Given the description of an element on the screen output the (x, y) to click on. 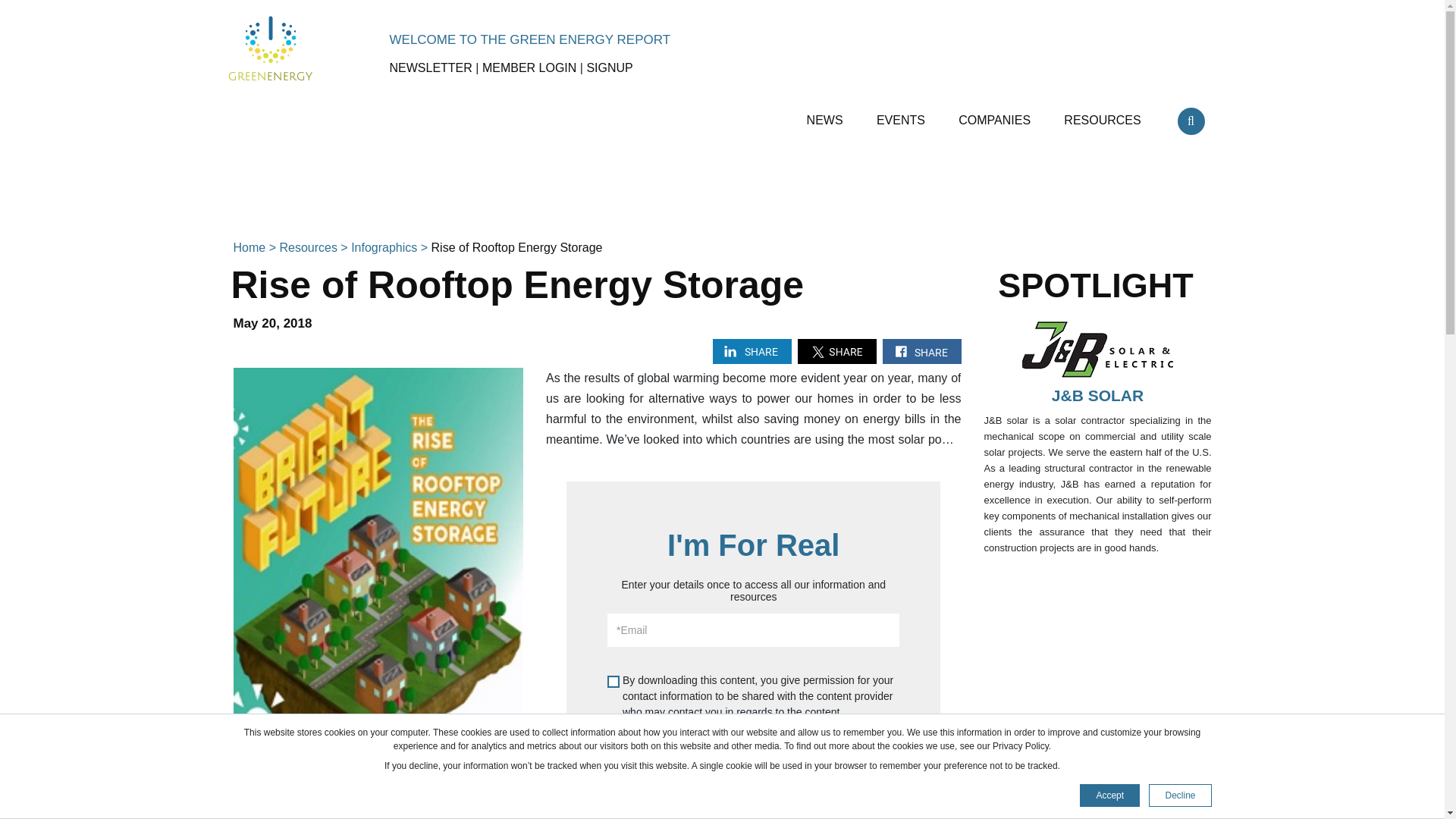
MEMBER LOGIN (528, 67)
NEWSLETTER (430, 67)
COMPANIES (996, 113)
NEWS (825, 113)
Advertisement (721, 191)
on (613, 681)
EVENTS (901, 113)
SIGNUP (608, 67)
RESOURCES (1104, 113)
DOWNLOAD (753, 751)
